Given the description of an element on the screen output the (x, y) to click on. 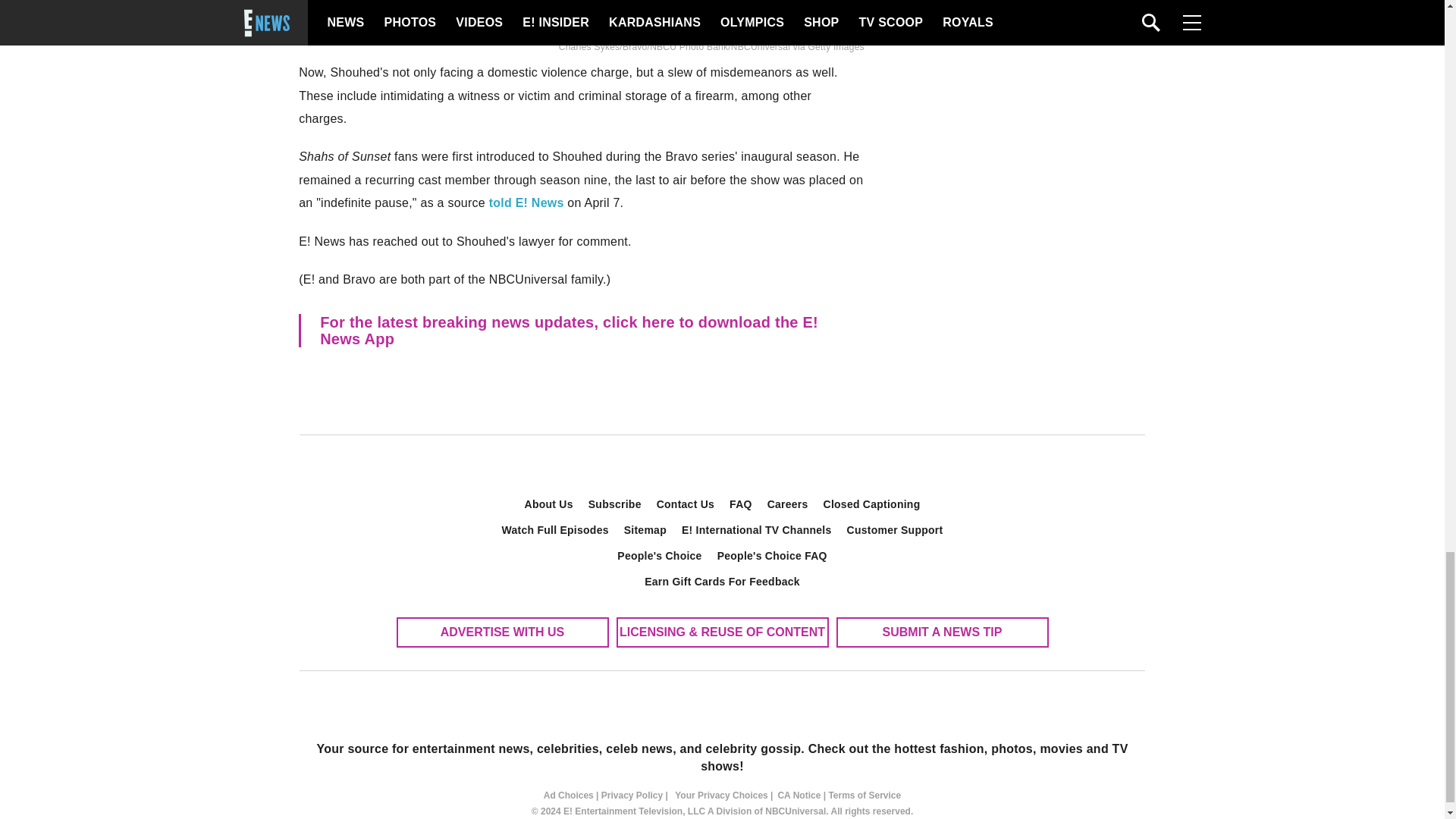
told E! News (526, 202)
